Given the description of an element on the screen output the (x, y) to click on. 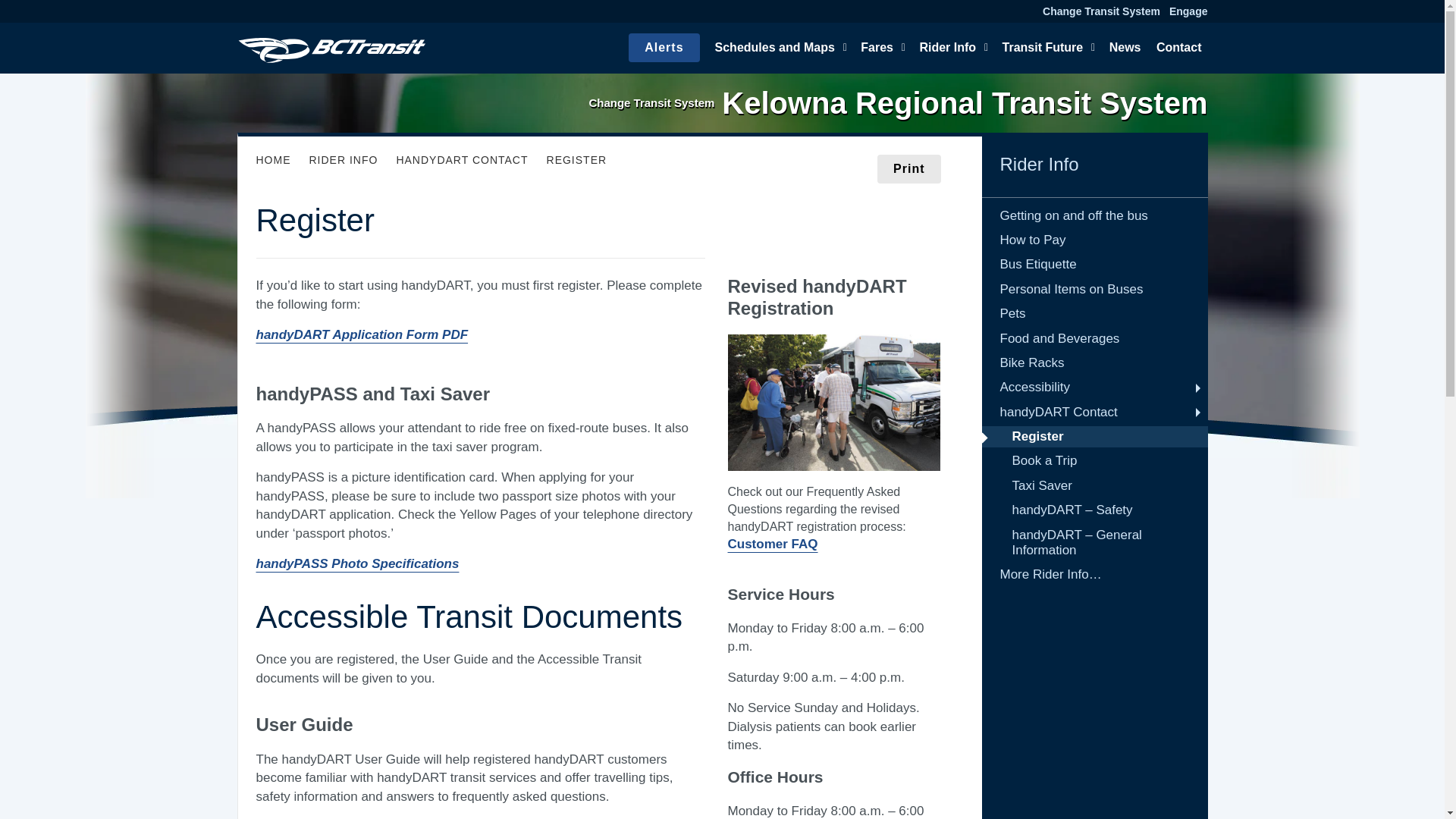
Engage (1188, 10)
Change Transit System (1101, 10)
